Given the description of an element on the screen output the (x, y) to click on. 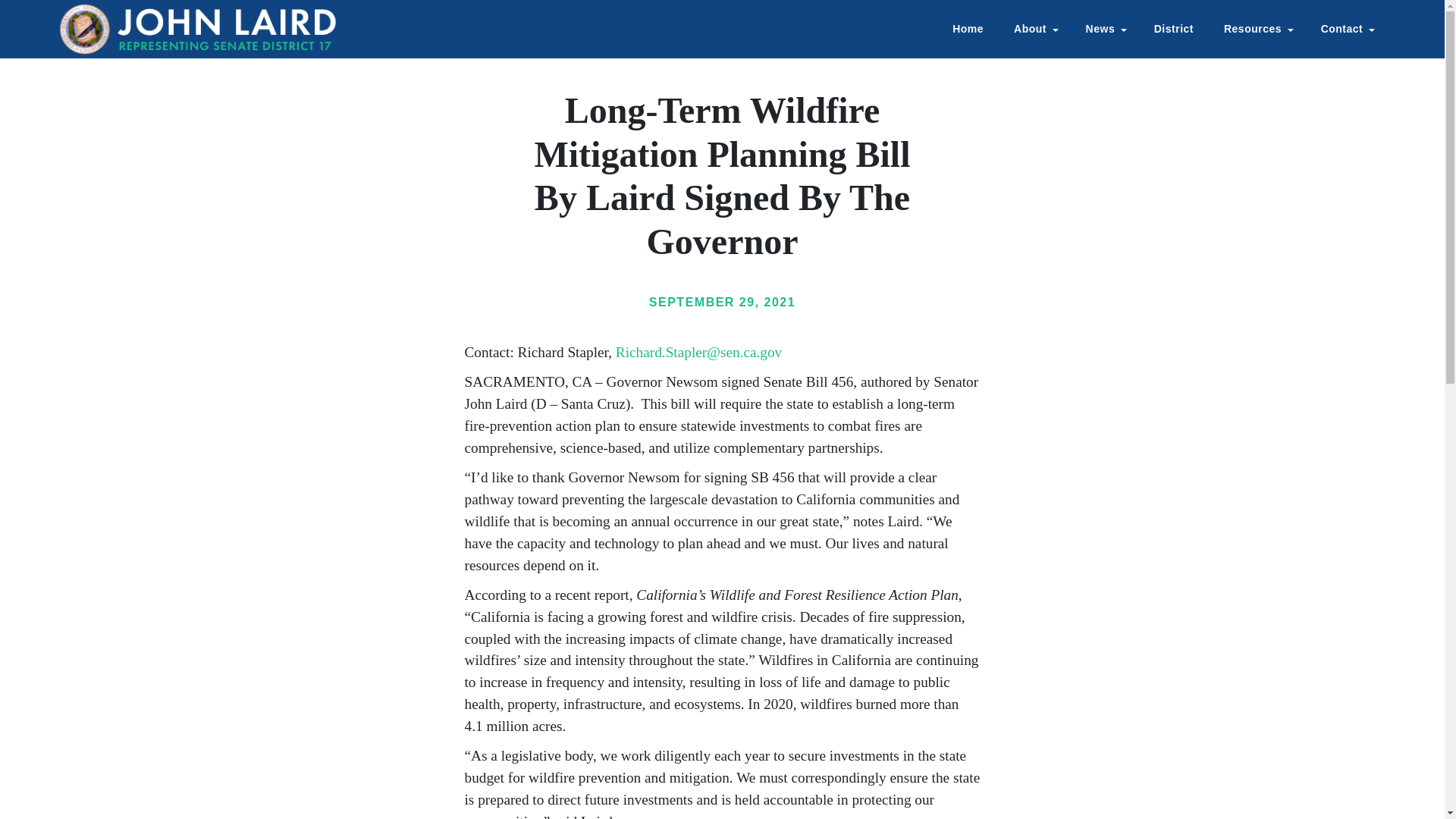
Home (200, 28)
District (1173, 29)
Skip to main content (721, 1)
Home (967, 29)
